Given the description of an element on the screen output the (x, y) to click on. 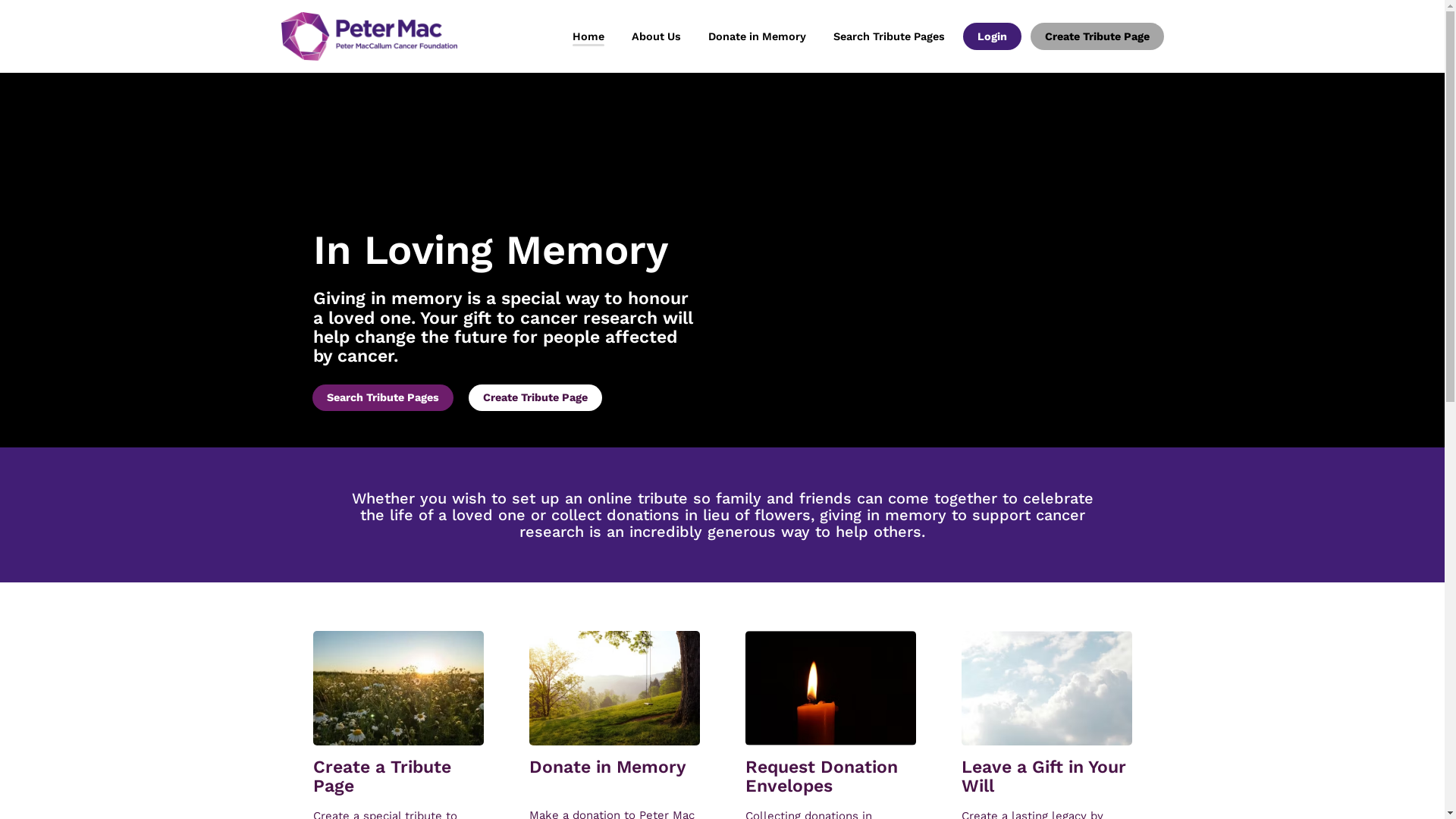
Donate in Memory Element type: text (757, 36)
Create Tribute Page Element type: text (1096, 35)
Search Tribute Pages Element type: text (382, 397)
Login Element type: text (992, 35)
Create Tribute Page Element type: text (535, 397)
About Us Element type: text (655, 36)
Home Element type: text (587, 36)
Search Tribute Pages Element type: text (888, 36)
